Given the description of an element on the screen output the (x, y) to click on. 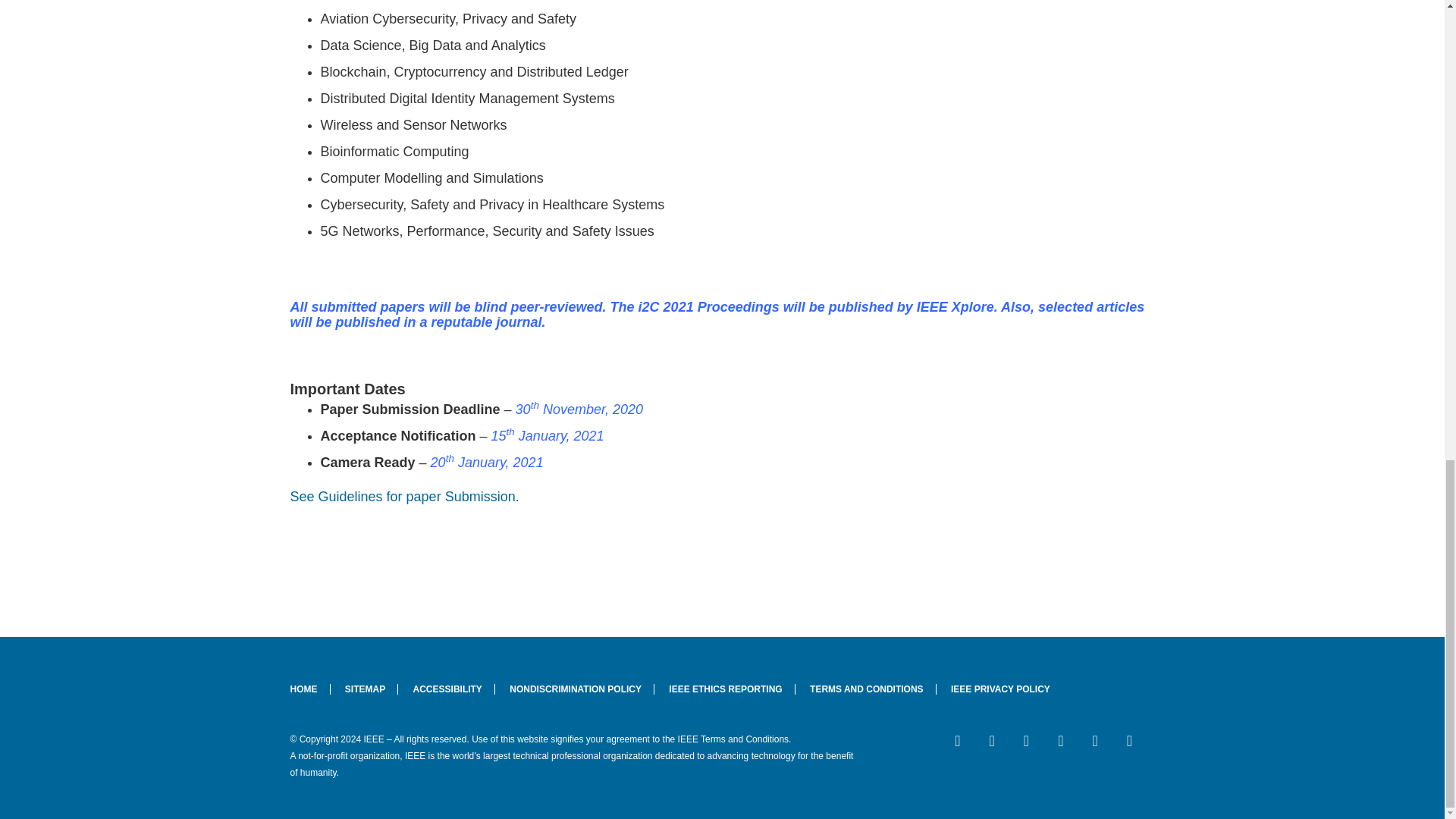
See Guidelines for paper Submission. (403, 496)
SITEMAP (365, 688)
ACCESSIBILITY (448, 688)
HOME (309, 688)
